Given the description of an element on the screen output the (x, y) to click on. 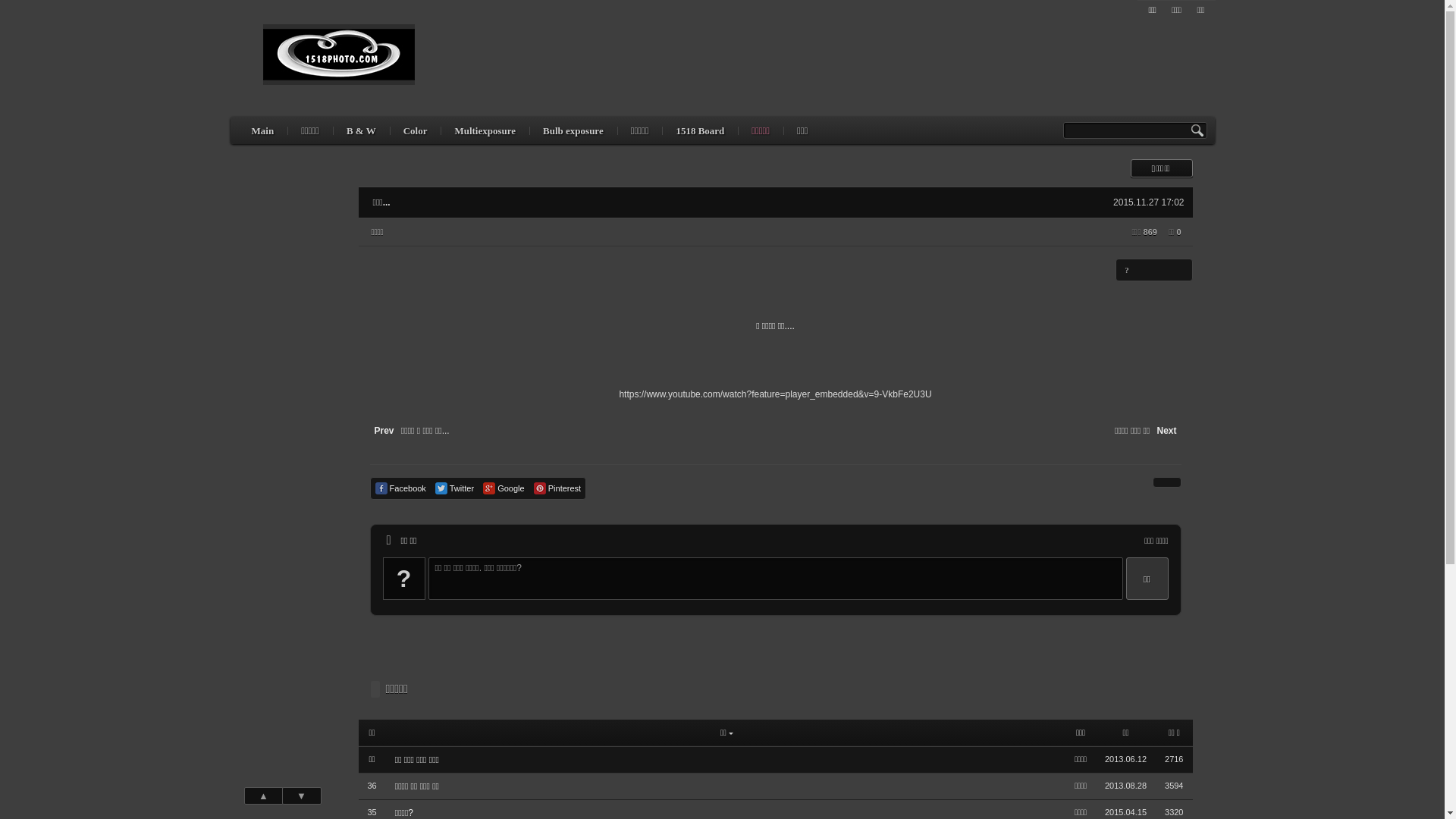
Color Element type: text (415, 130)
Facebook Element type: text (399, 487)
B & W Element type: text (360, 130)
Twitter Element type: text (454, 487)
1518 Board Element type: text (699, 130)
Main Element type: text (263, 130)
? Element type: text (1126, 269)
Pinterest Element type: text (557, 487)
Bulb exposure Element type: text (573, 130)
Multiexposure Element type: text (484, 130)
Google Element type: text (503, 487)
